Given the description of an element on the screen output the (x, y) to click on. 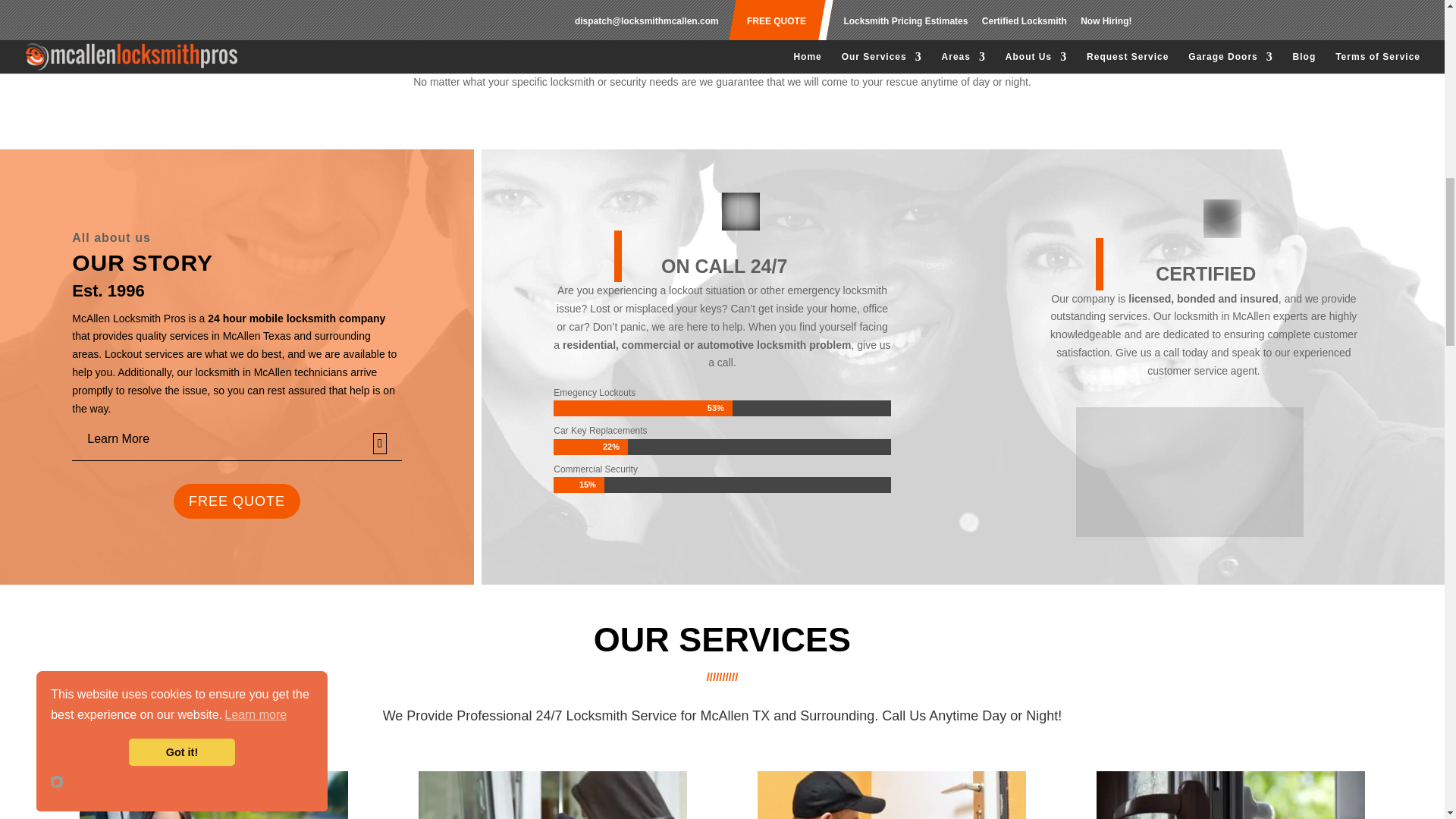
Screen-Shot-2016-07-15-at-11.33.42-1 (1189, 472)
